Given the description of an element on the screen output the (x, y) to click on. 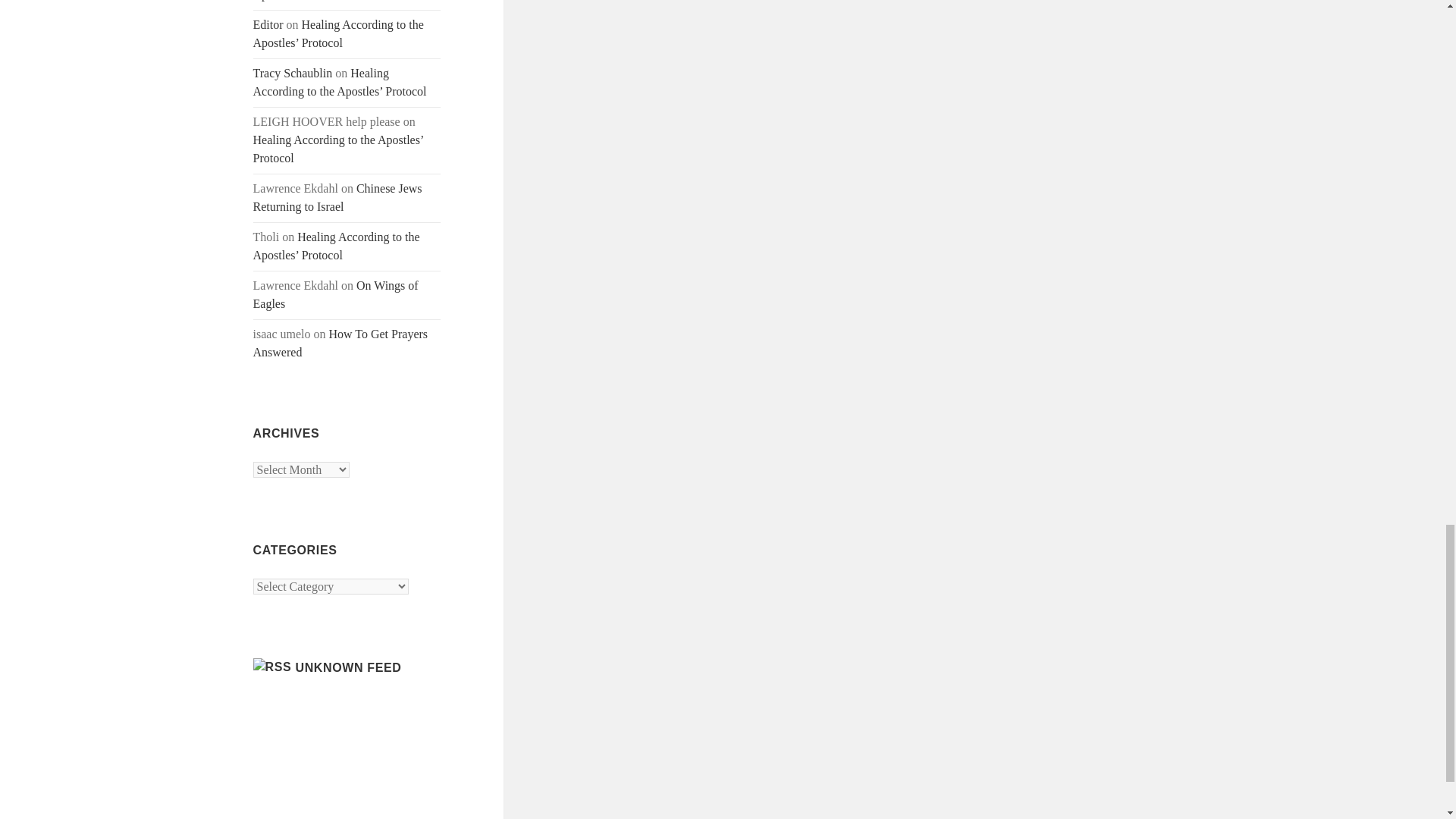
Chinese Jews Returning to Israel (337, 196)
Tracy Schaublin (293, 72)
Editor (268, 24)
On Wings of Eagles (336, 294)
